Given the description of an element on the screen output the (x, y) to click on. 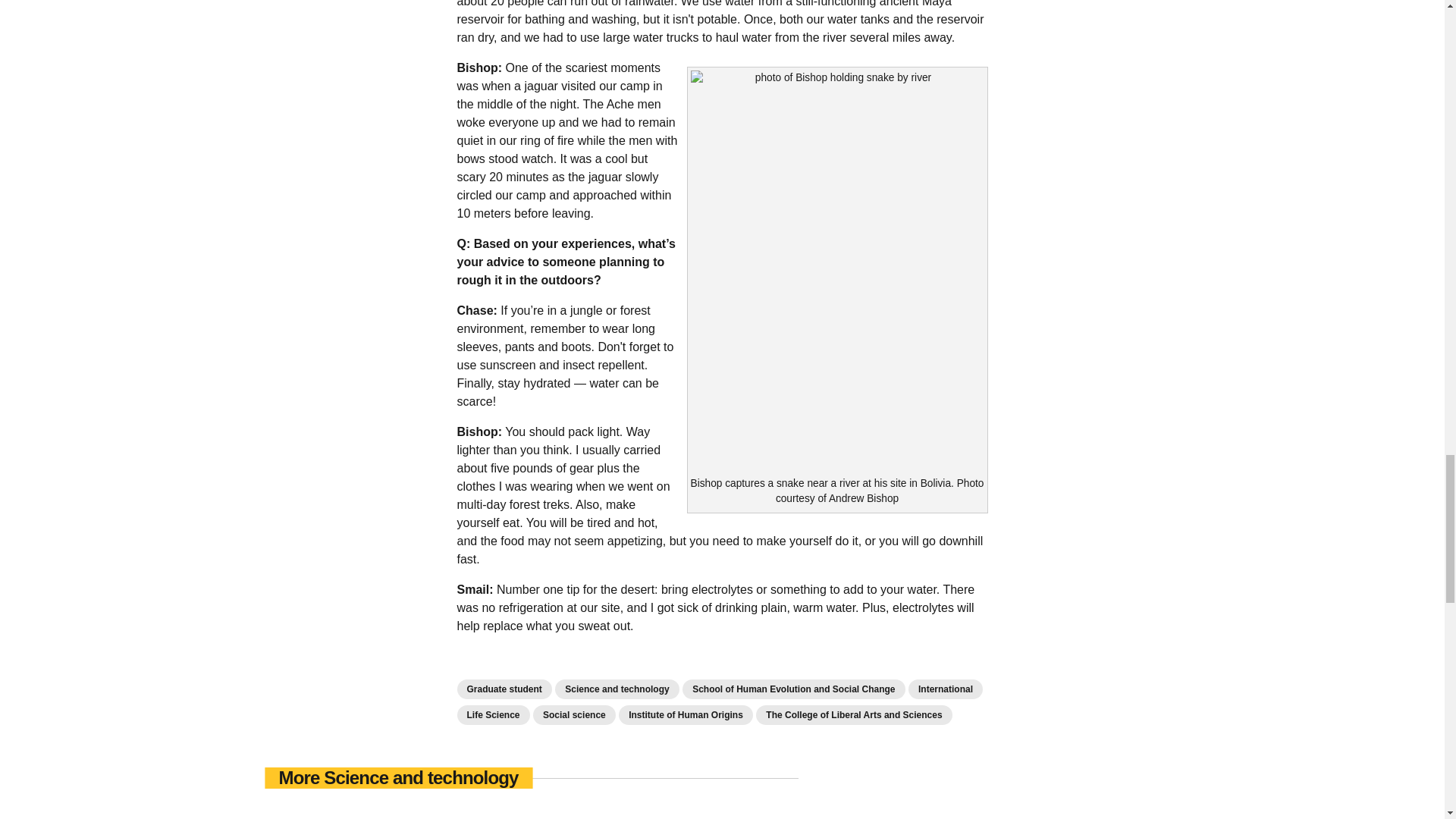
Science and technology (616, 689)
Graduate student (504, 689)
School of Human Evolution and Social Change (793, 689)
Institute of Human Origins (685, 714)
International (945, 689)
The College of Liberal Arts and Sciences (853, 714)
Social science (573, 714)
Life Science (493, 714)
